Given the description of an element on the screen output the (x, y) to click on. 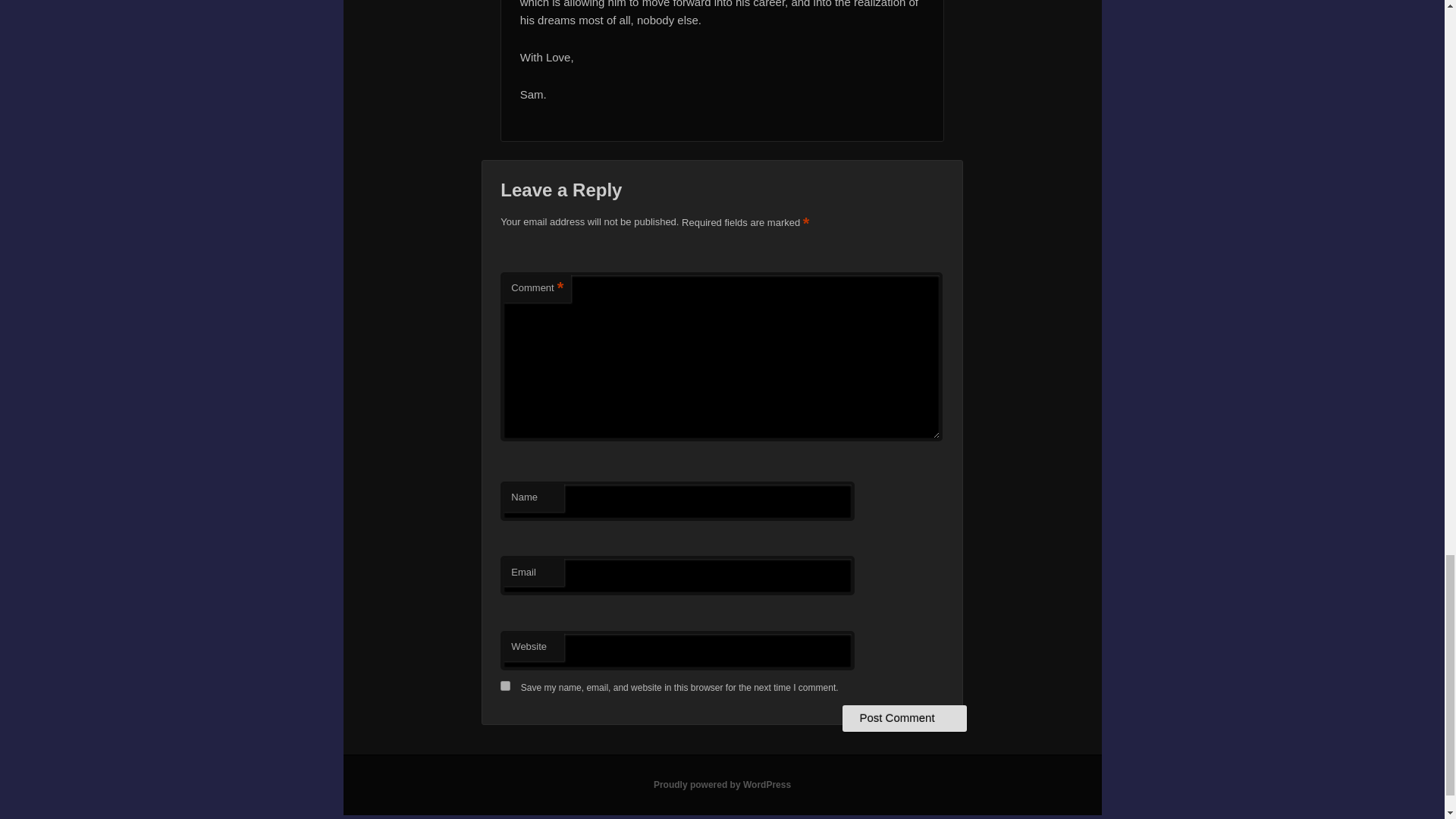
Semantic Personal Publishing Platform (721, 784)
yes (505, 685)
Post Comment (904, 718)
